Given the description of an element on the screen output the (x, y) to click on. 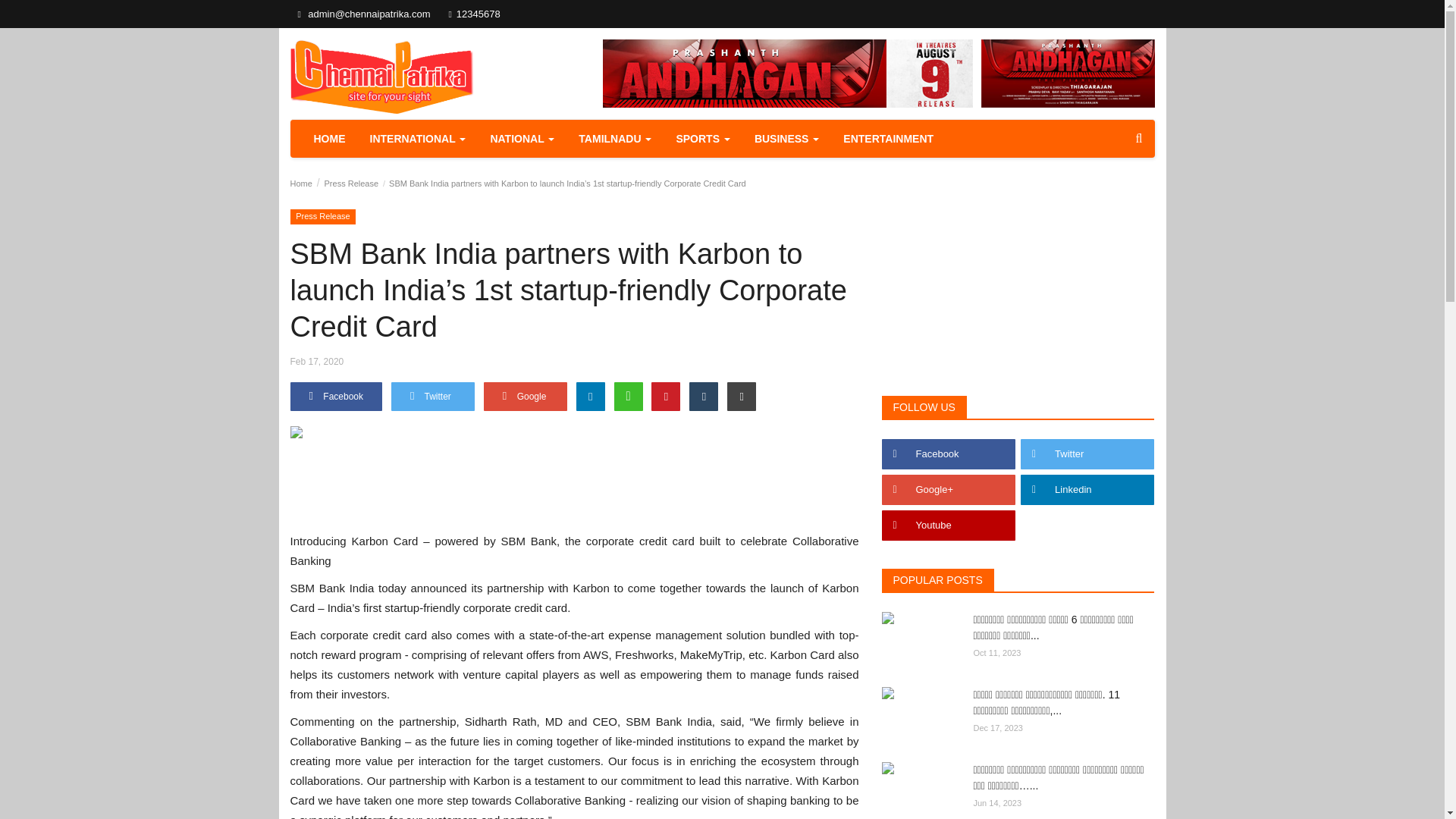
HOME (329, 138)
TAMILNADU (614, 138)
NATIONAL (521, 138)
SPORTS (702, 138)
12345678 (473, 14)
INTERNATIONAL (418, 138)
